Given the description of an element on the screen output the (x, y) to click on. 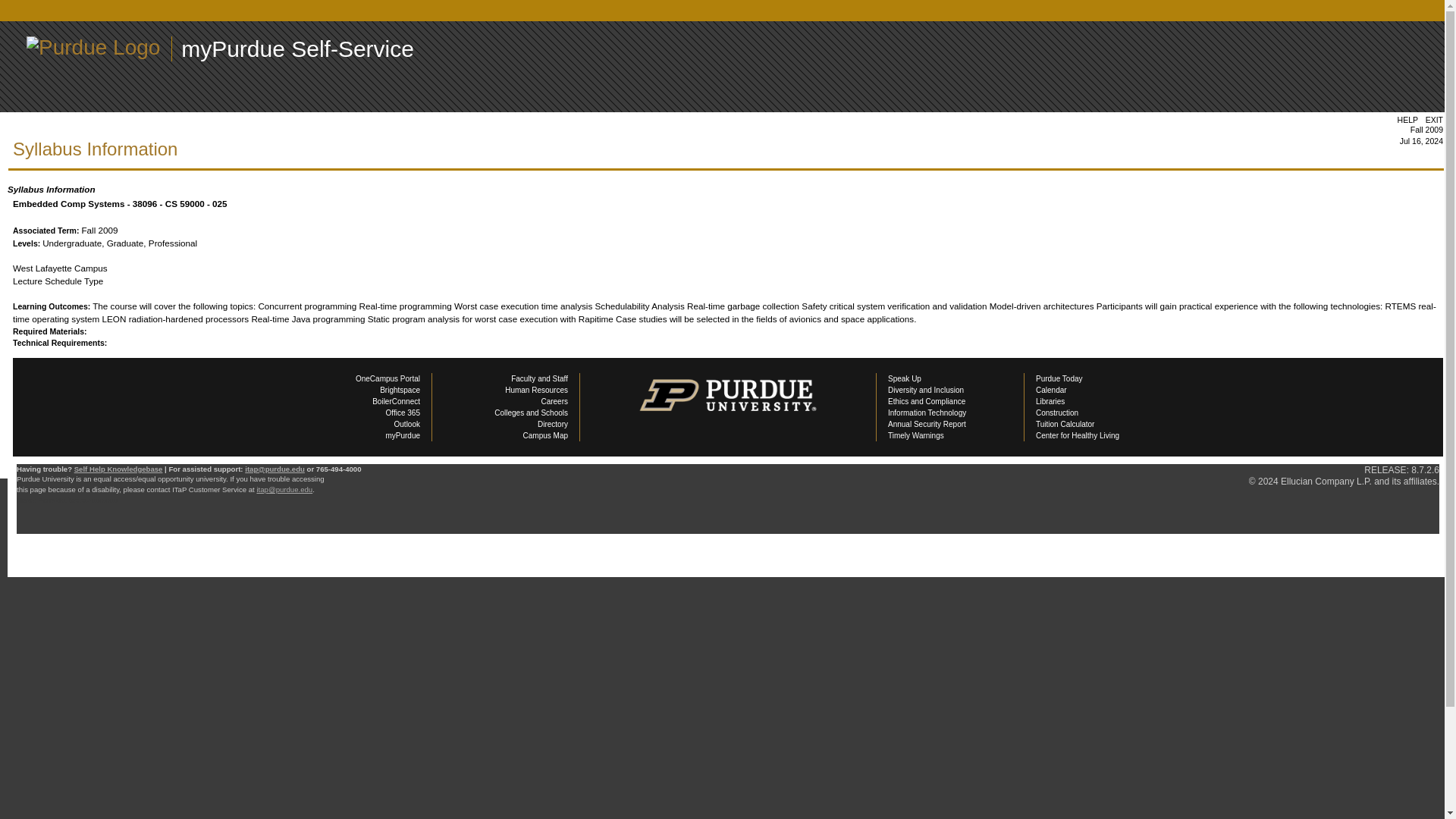
Purdue Today (1059, 378)
Calendar (1051, 389)
HELP (1407, 119)
Campus Map (544, 435)
Information Technology (927, 412)
Center for Healthy Living (1077, 435)
myPurdue (402, 435)
OneCampus Portal (387, 378)
Outlook (407, 424)
View Catalog Entry (50, 367)
Construction (1056, 412)
Colleges and Schools (531, 412)
Libraries (1049, 401)
Careers (553, 401)
Ethics and Compliance (926, 401)
